Given the description of an element on the screen output the (x, y) to click on. 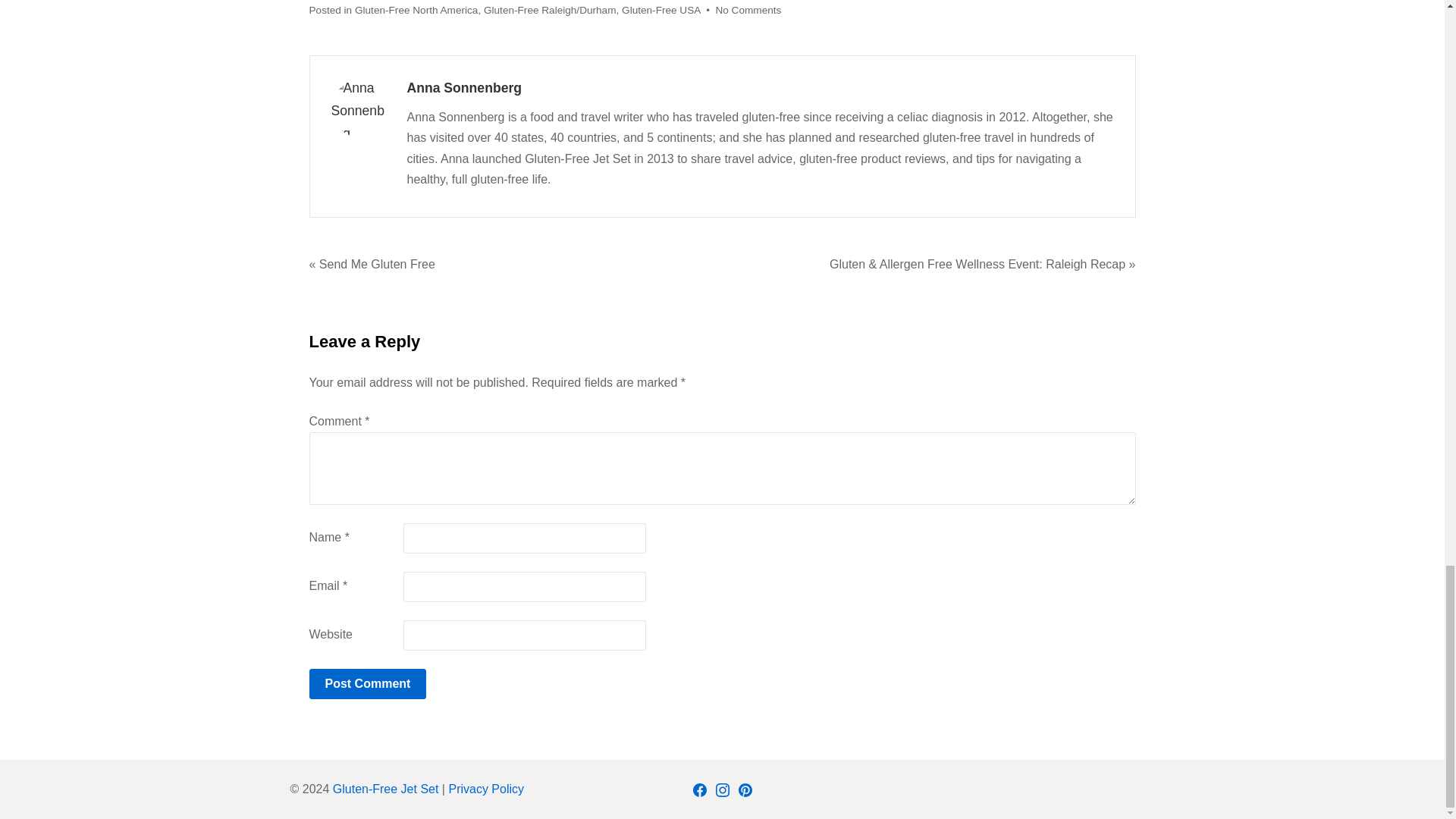
Post Comment (367, 683)
Instagram icon (722, 789)
Pinterest icon (745, 789)
